Given the description of an element on the screen output the (x, y) to click on. 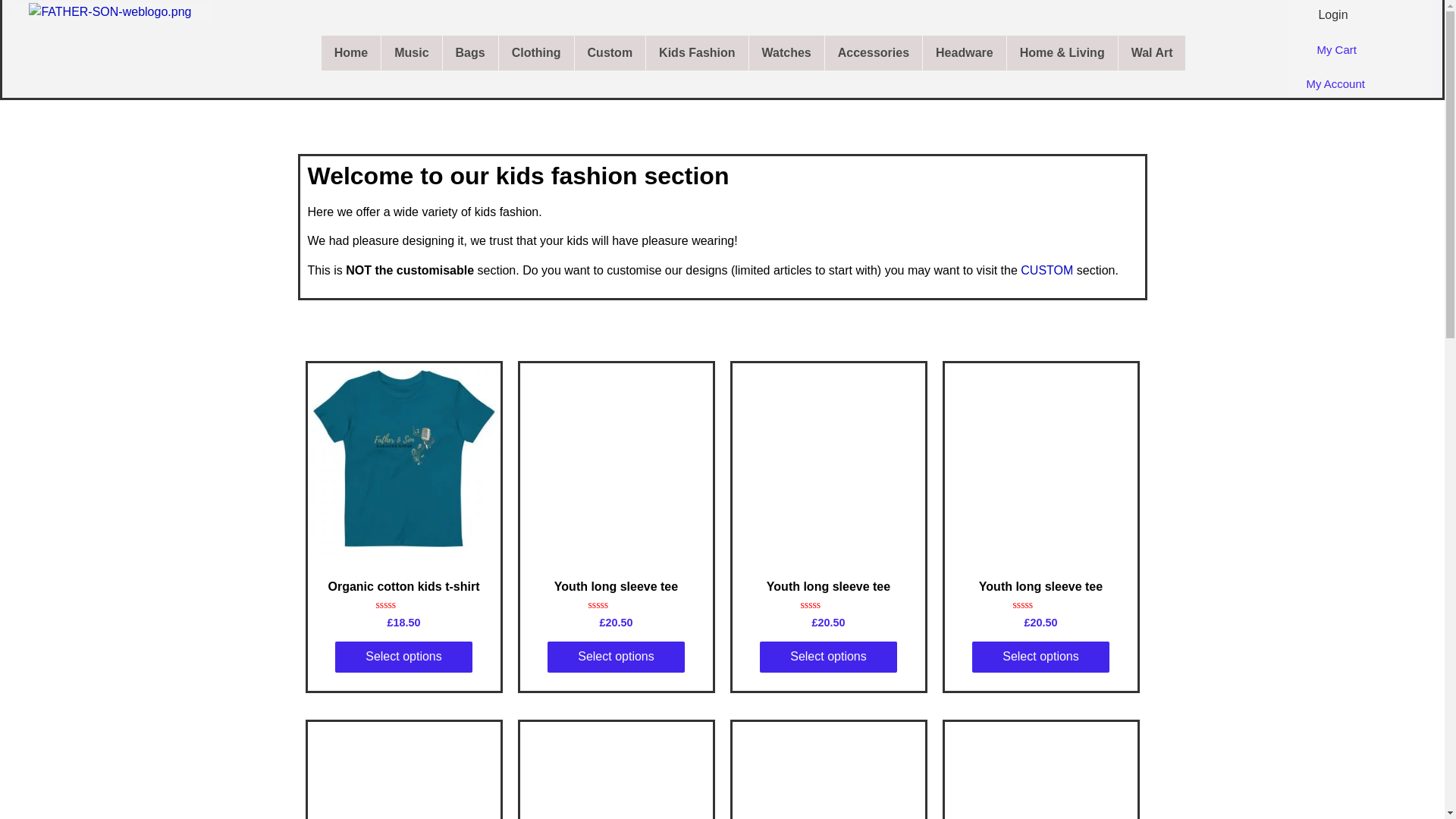
Clothing (536, 53)
Bags (469, 53)
Home (350, 53)
Accessories (873, 53)
Music (411, 53)
My Cart (1336, 49)
FATHER-SON-weblogo.png (109, 12)
Login (1332, 14)
My Account (1335, 83)
Custom (610, 53)
Kids Fashion (697, 53)
Watches (786, 53)
Headware (964, 53)
Wal Art (1152, 53)
